Given the description of an element on the screen output the (x, y) to click on. 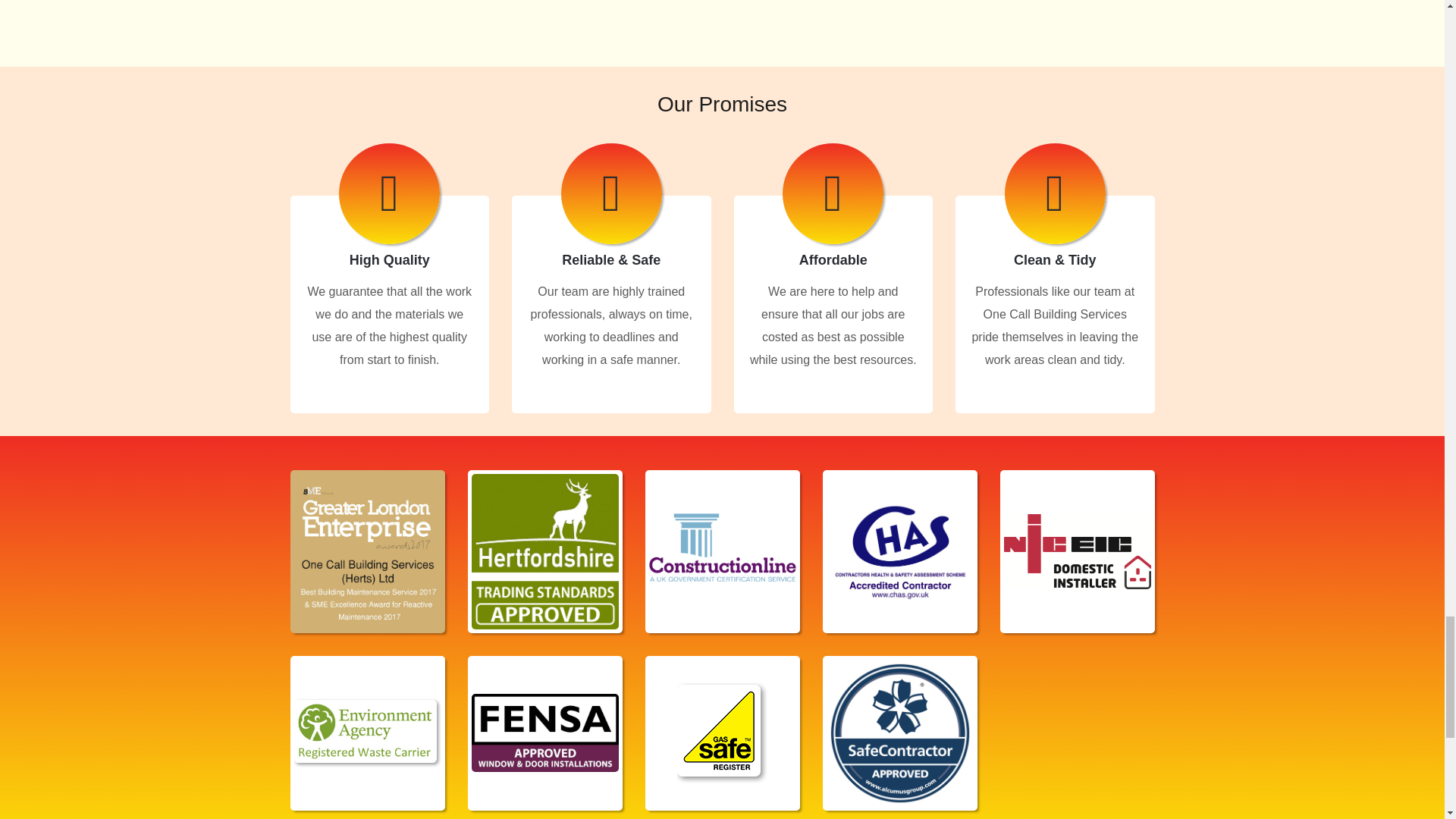
One Call - Phillipa Testimonial (425, 8)
Paula - testimonial (722, 8)
